Given the description of an element on the screen output the (x, y) to click on. 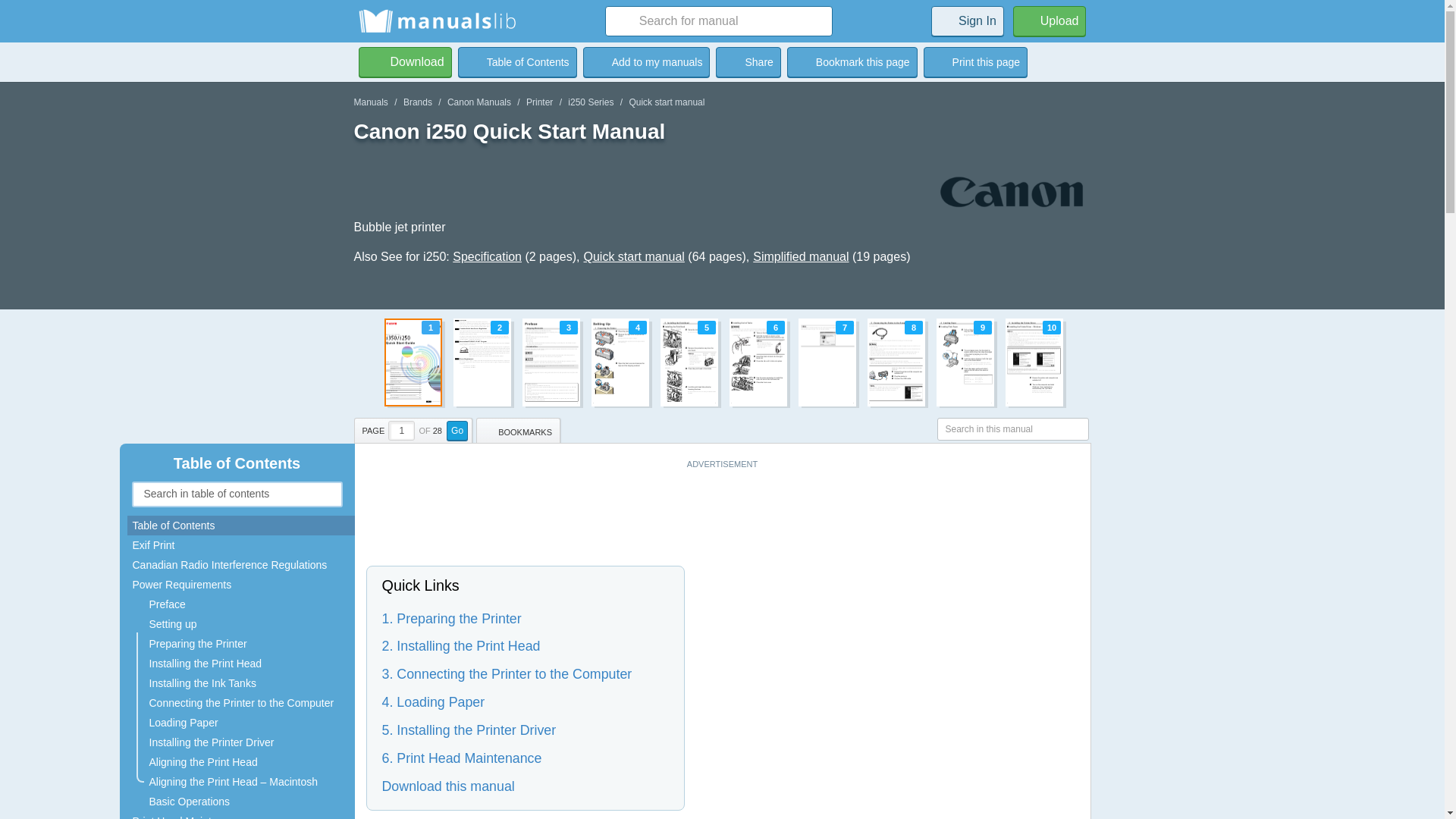
Table of Contents (517, 61)
Bookmark this page (852, 61)
Add to my manuals (646, 61)
Print this page (975, 61)
Print this page (975, 61)
Manuals (370, 102)
Simplified manual (721, 362)
Manuals Library (800, 256)
Upload (436, 21)
Bookmark this manual (1049, 20)
Share (646, 61)
Download (748, 61)
i250 Series (404, 61)
Download this manual (589, 102)
